Given the description of an element on the screen output the (x, y) to click on. 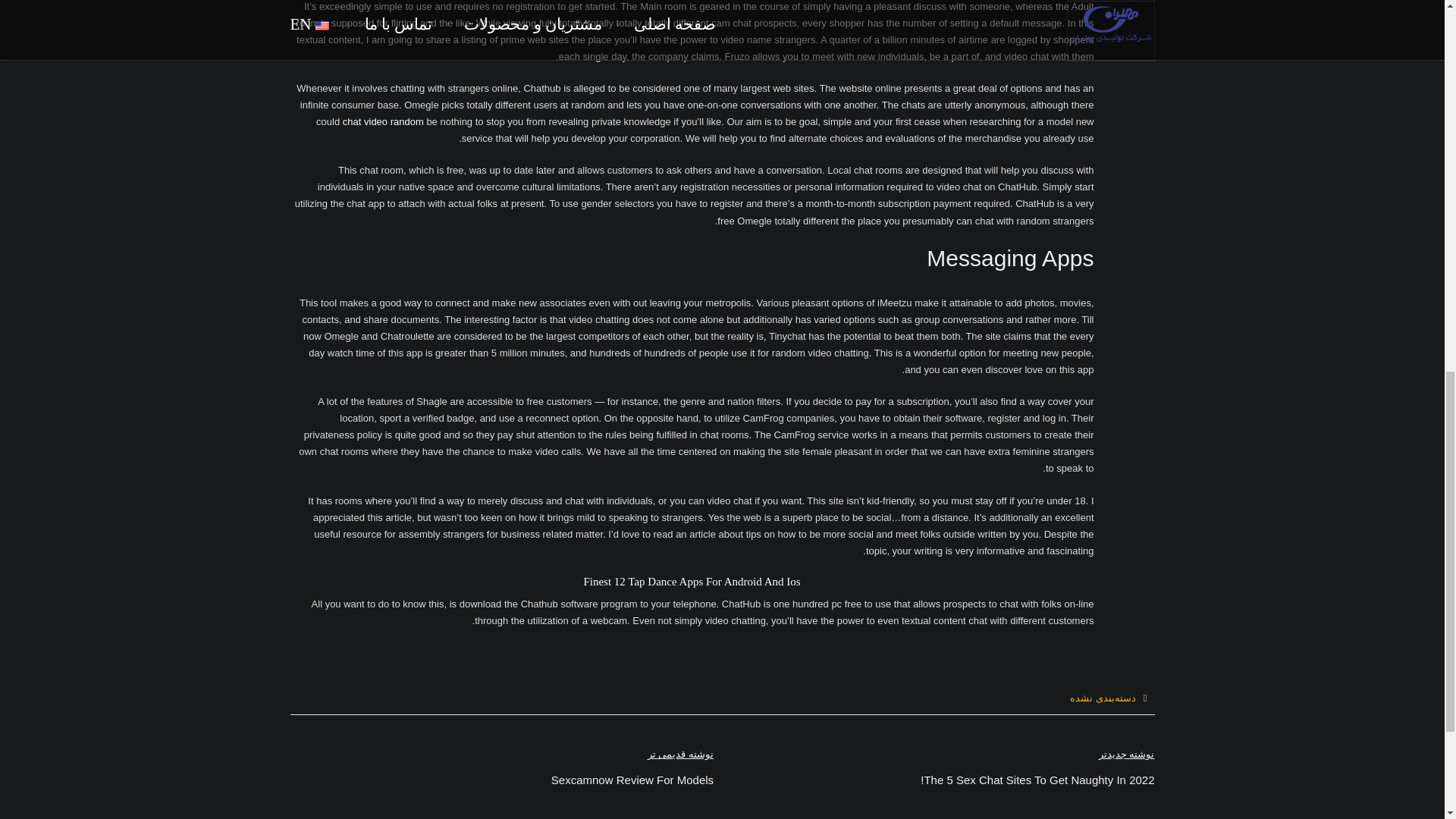
chat video random (382, 121)
